Given the description of an element on the screen output the (x, y) to click on. 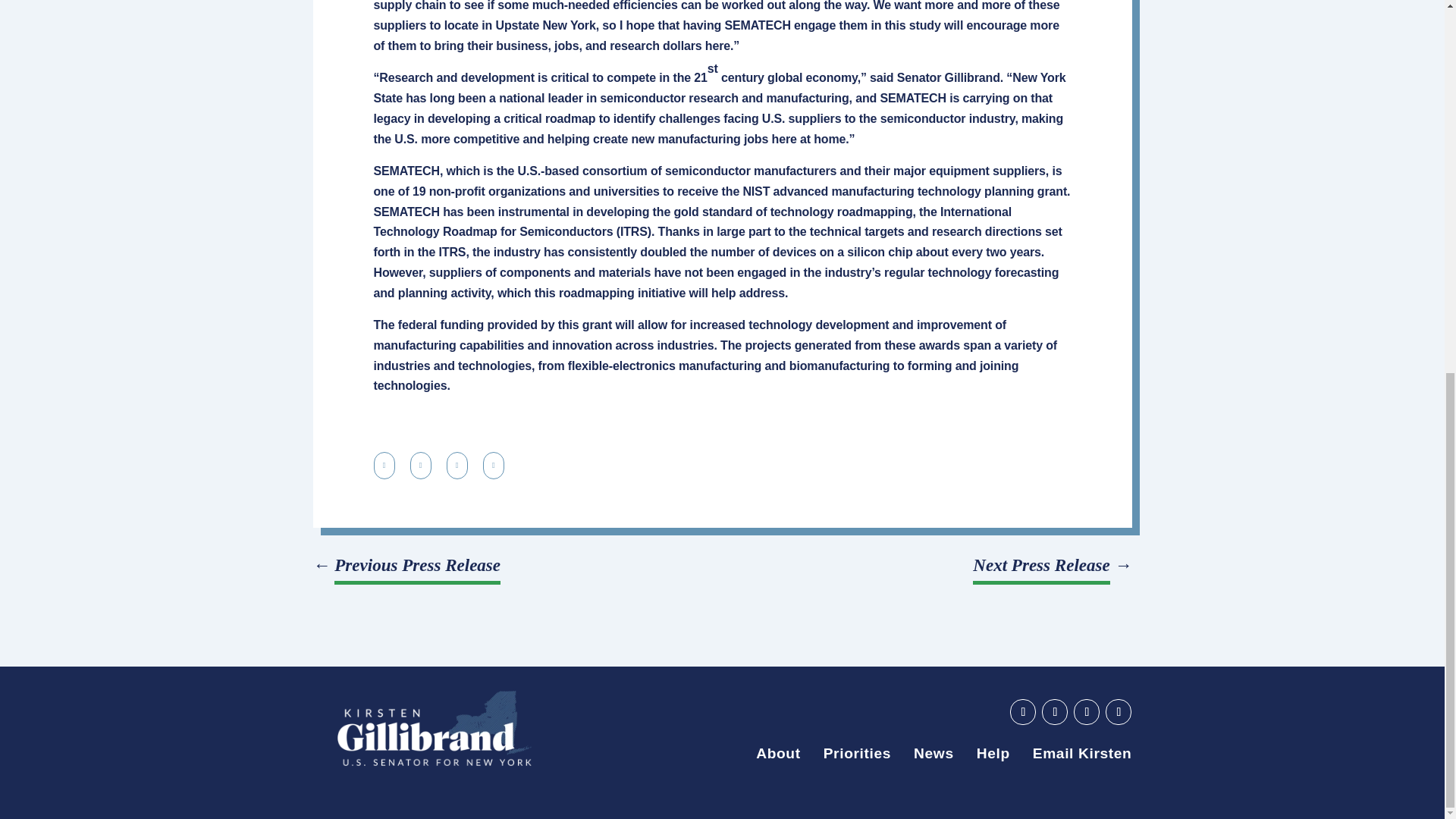
gillibrand-logo (434, 728)
Follow on Instagram (1118, 711)
Follow on Youtube (1022, 711)
Follow on Facebook (1054, 711)
Follow on Twitter (1086, 711)
